Given the description of an element on the screen output the (x, y) to click on. 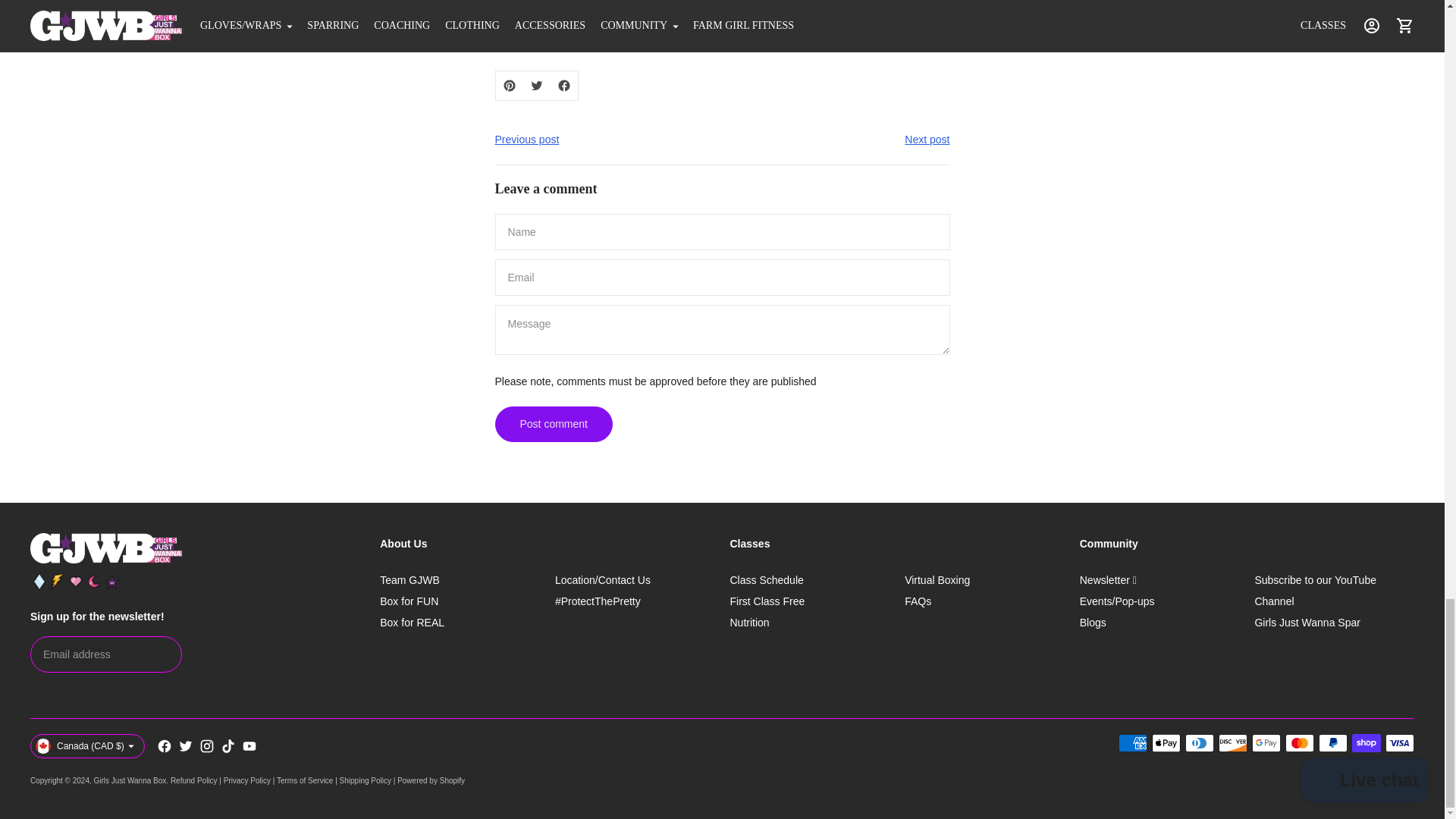
Share to Pinterest (509, 85)
Level 2 (57, 581)
Level 4 (93, 581)
Girls Just Wanna Box on Facebook (164, 745)
Level 5 (111, 581)
Share to twitter (536, 85)
Level 1 (39, 581)
Share to Facebook (564, 85)
Girls Just Wanna Box on Twitter (185, 745)
Girls Just Wanna Box on Instagram (206, 745)
